Given the description of an element on the screen output the (x, y) to click on. 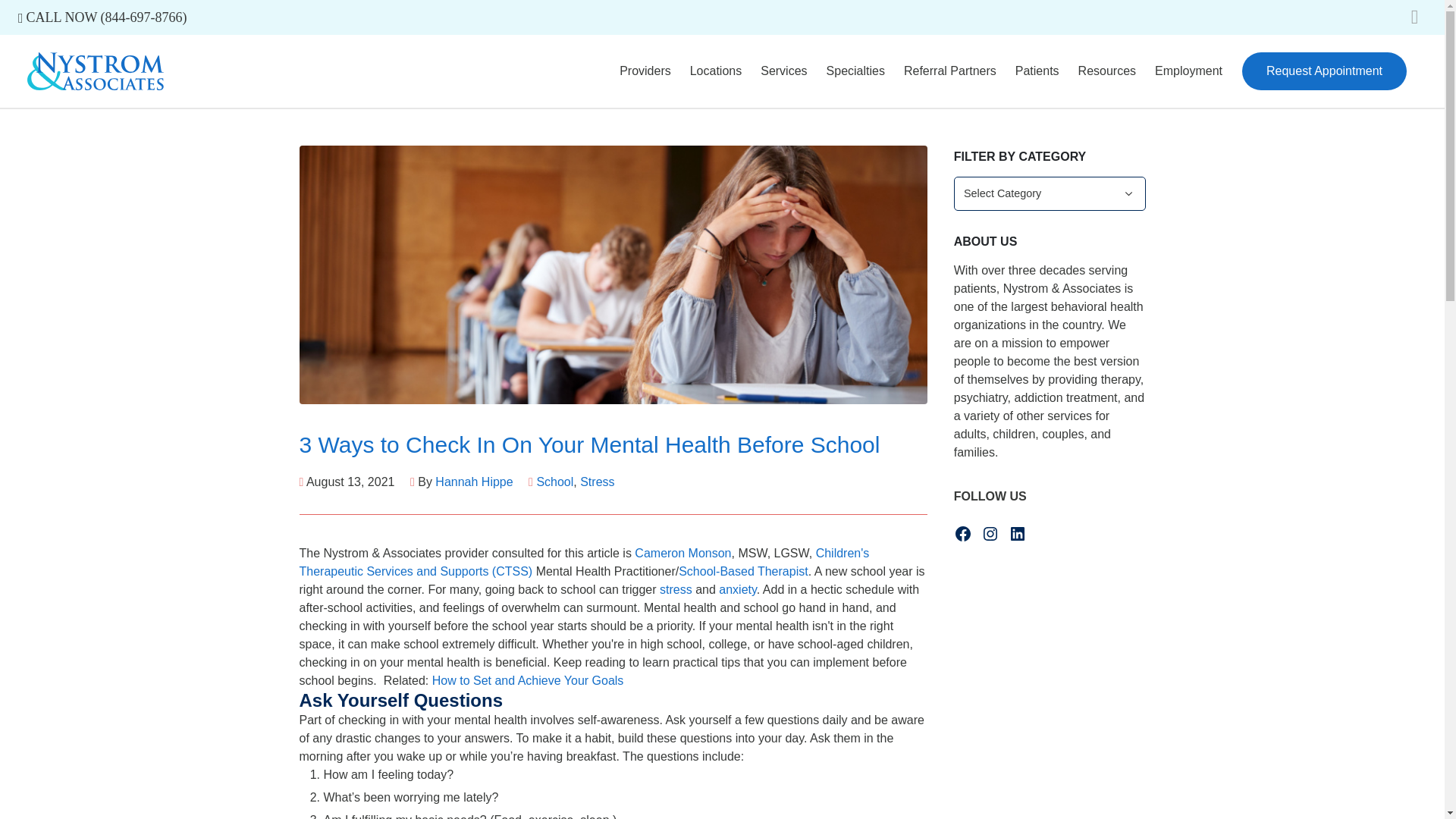
Posts by Hannah Hippe (473, 481)
Locations (716, 70)
Patients (1037, 70)
Services (783, 70)
Providers (644, 70)
Referral Partners (950, 70)
Specialties (854, 70)
